Given the description of an element on the screen output the (x, y) to click on. 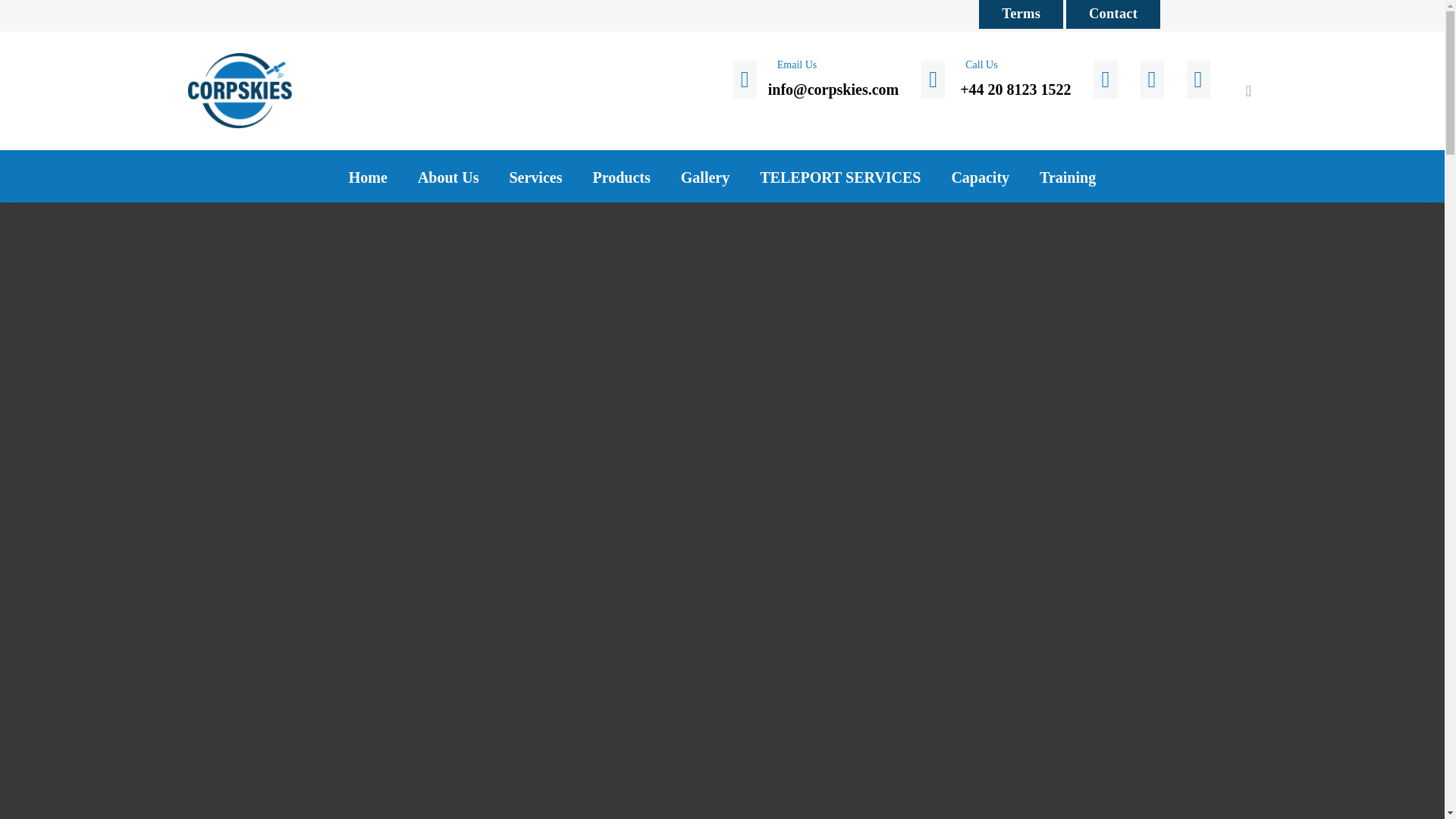
Gallery (704, 169)
Contact (1113, 13)
Terms (1021, 13)
Training (1067, 169)
About Us (449, 169)
Capacity (980, 169)
Services (534, 169)
Home (368, 169)
Products (620, 169)
TELEPORT SERVICES (840, 169)
